Given the description of an element on the screen output the (x, y) to click on. 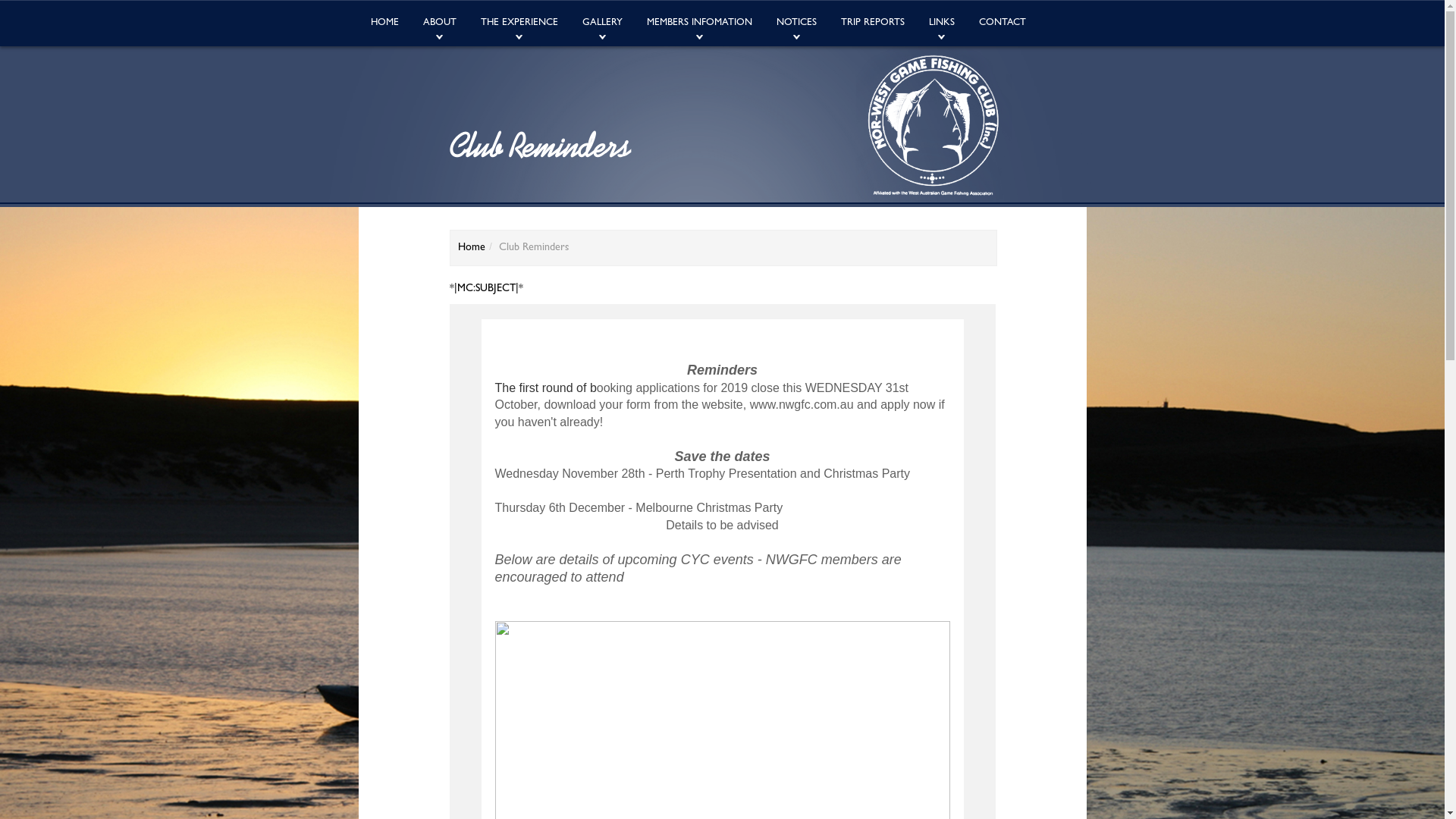
HOME Element type: text (383, 23)
THE EXPERIENCE Element type: text (519, 23)
LINKS Element type: text (941, 23)
TRIP REPORTS Element type: text (872, 23)
CONTACT Element type: text (1001, 23)
GALLERY Element type: text (602, 23)
ABOUT Element type: text (439, 23)
NOR WEST GAME FISHING CLUB Element type: hover (934, 125)
NOTICES Element type: text (796, 23)
Home Element type: text (471, 247)
MEMBERS INFOMATION Element type: text (698, 23)
